Given the description of an element on the screen output the (x, y) to click on. 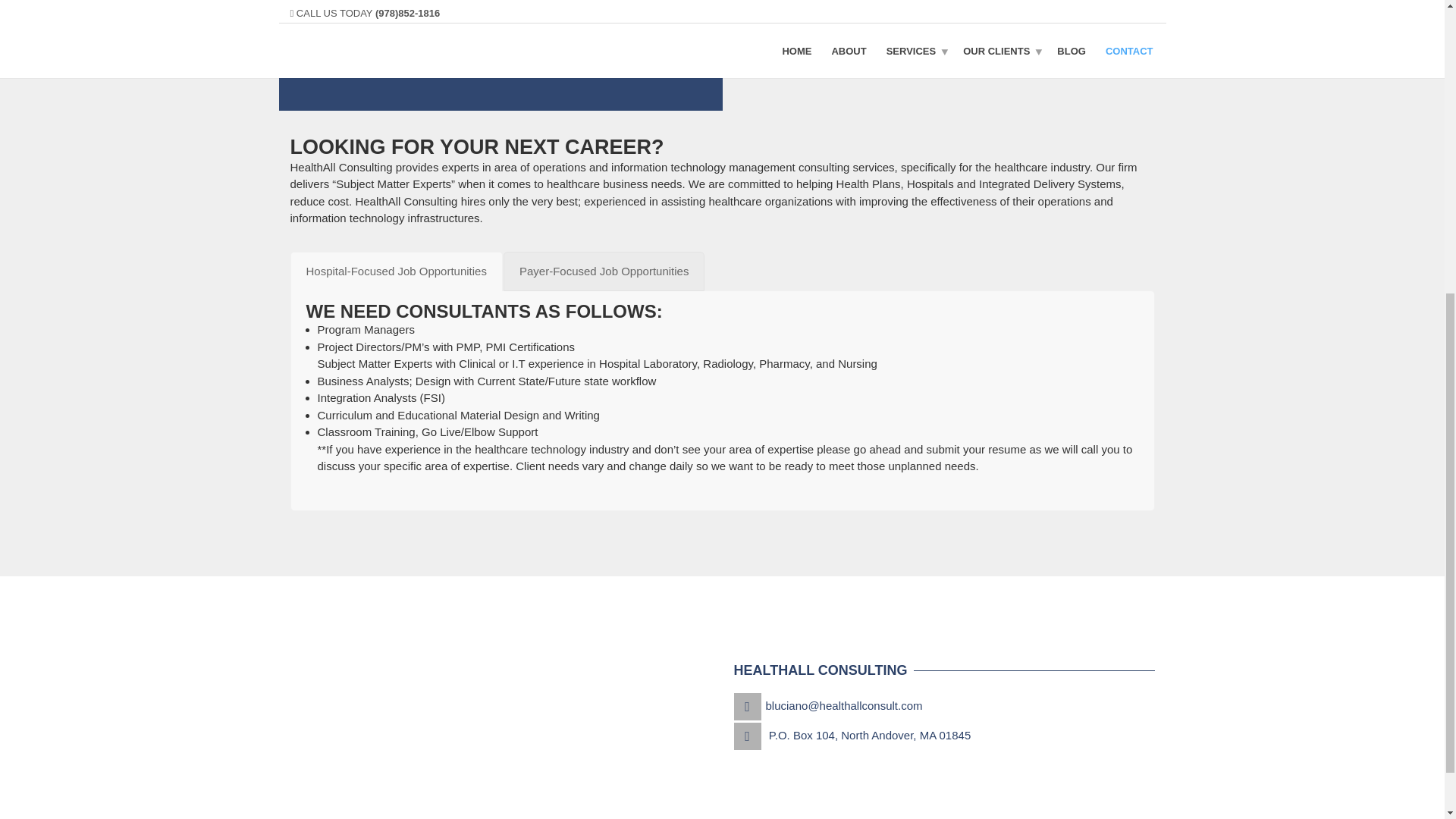
Payer-Focused Job Opportunities (603, 271)
Send (339, 46)
Email us today! (793, 55)
Send (339, 46)
Hospital-Focused Job Opportunities (395, 271)
P.O. Box 104, North Andover, MA 01845 (869, 735)
